Given the description of an element on the screen output the (x, y) to click on. 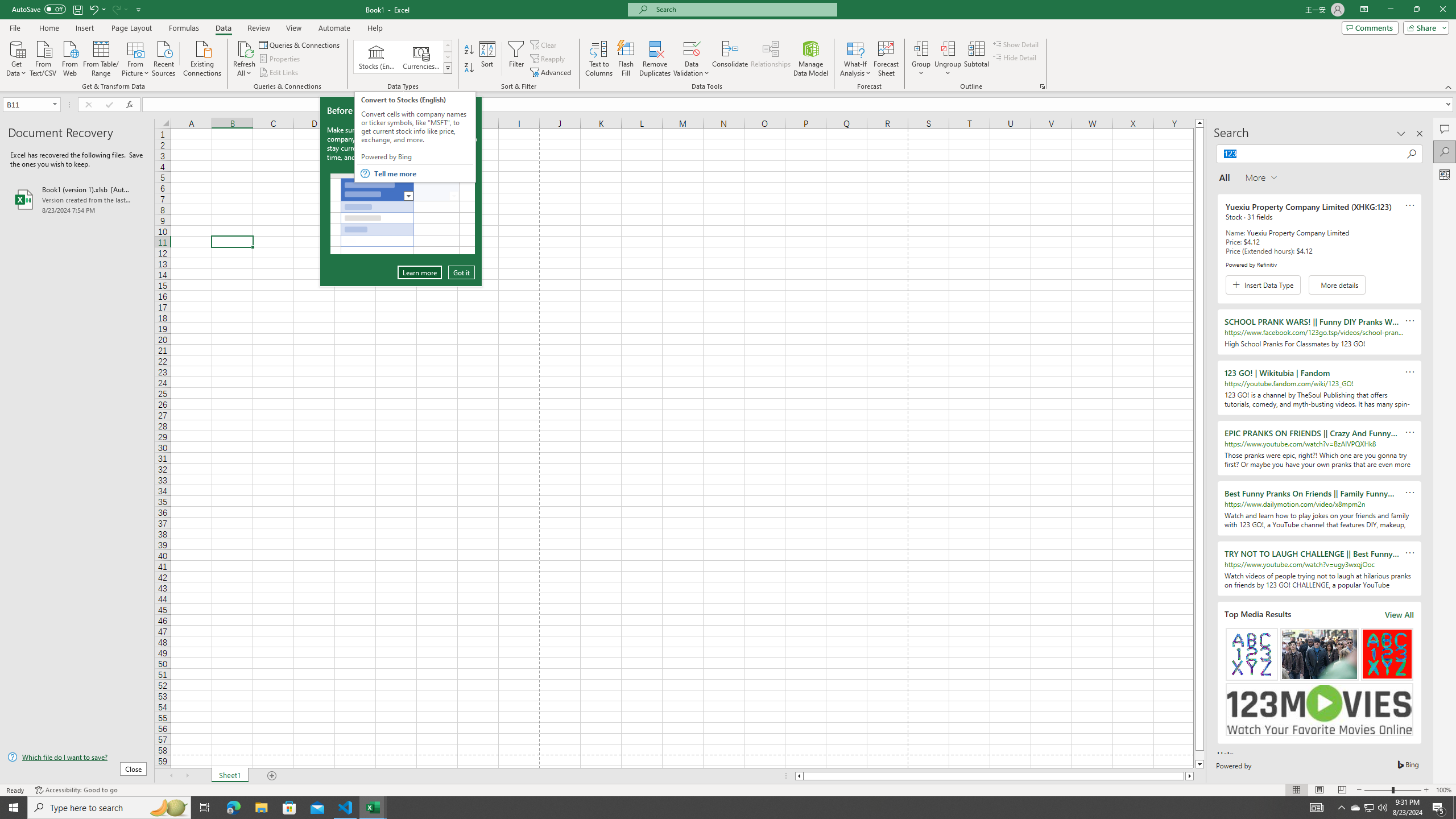
AutomationID: 4105 (1316, 807)
